Given the description of an element on the screen output the (x, y) to click on. 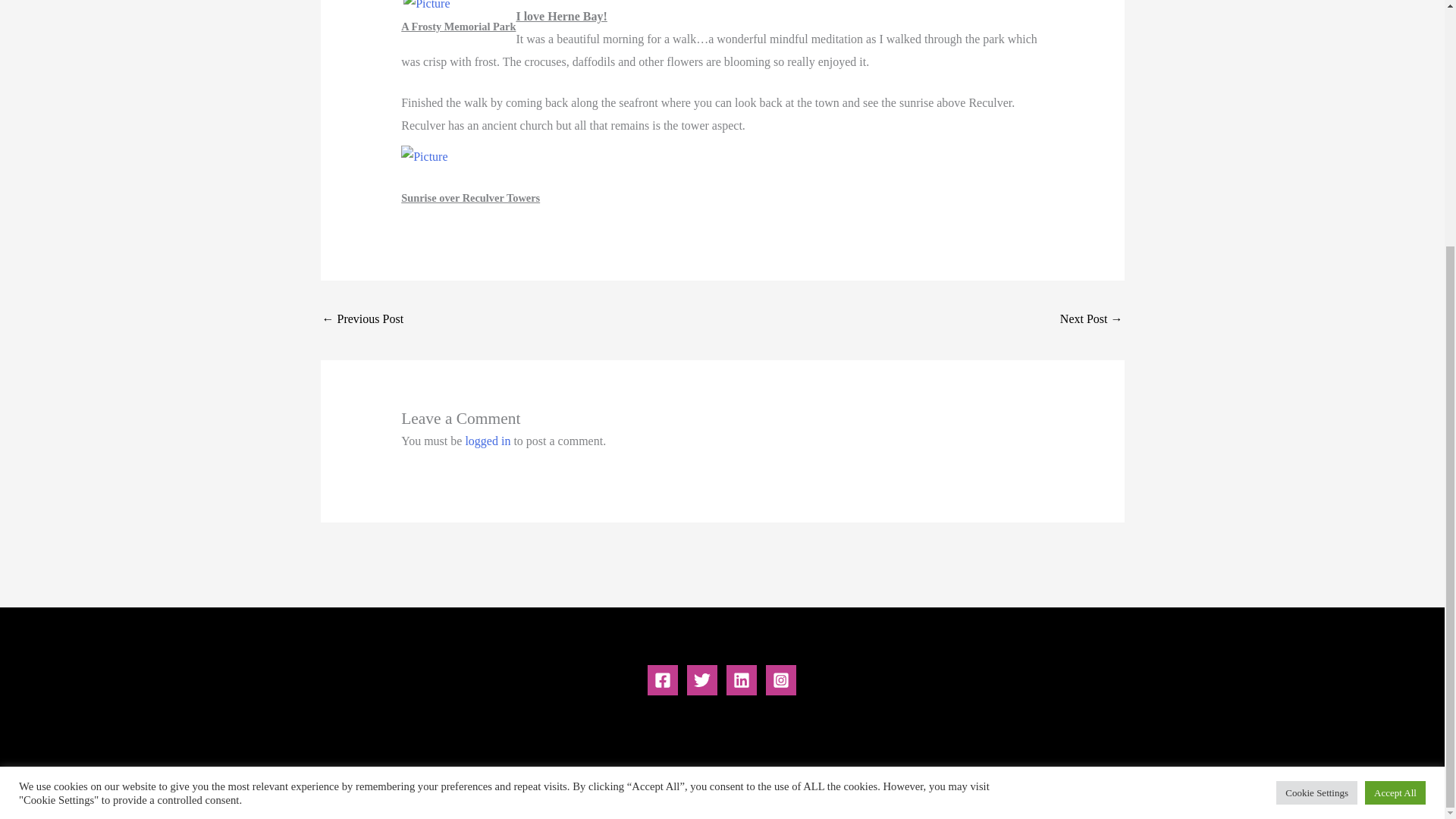
How Our View of Self is Distorted (1090, 320)
